Given the description of an element on the screen output the (x, y) to click on. 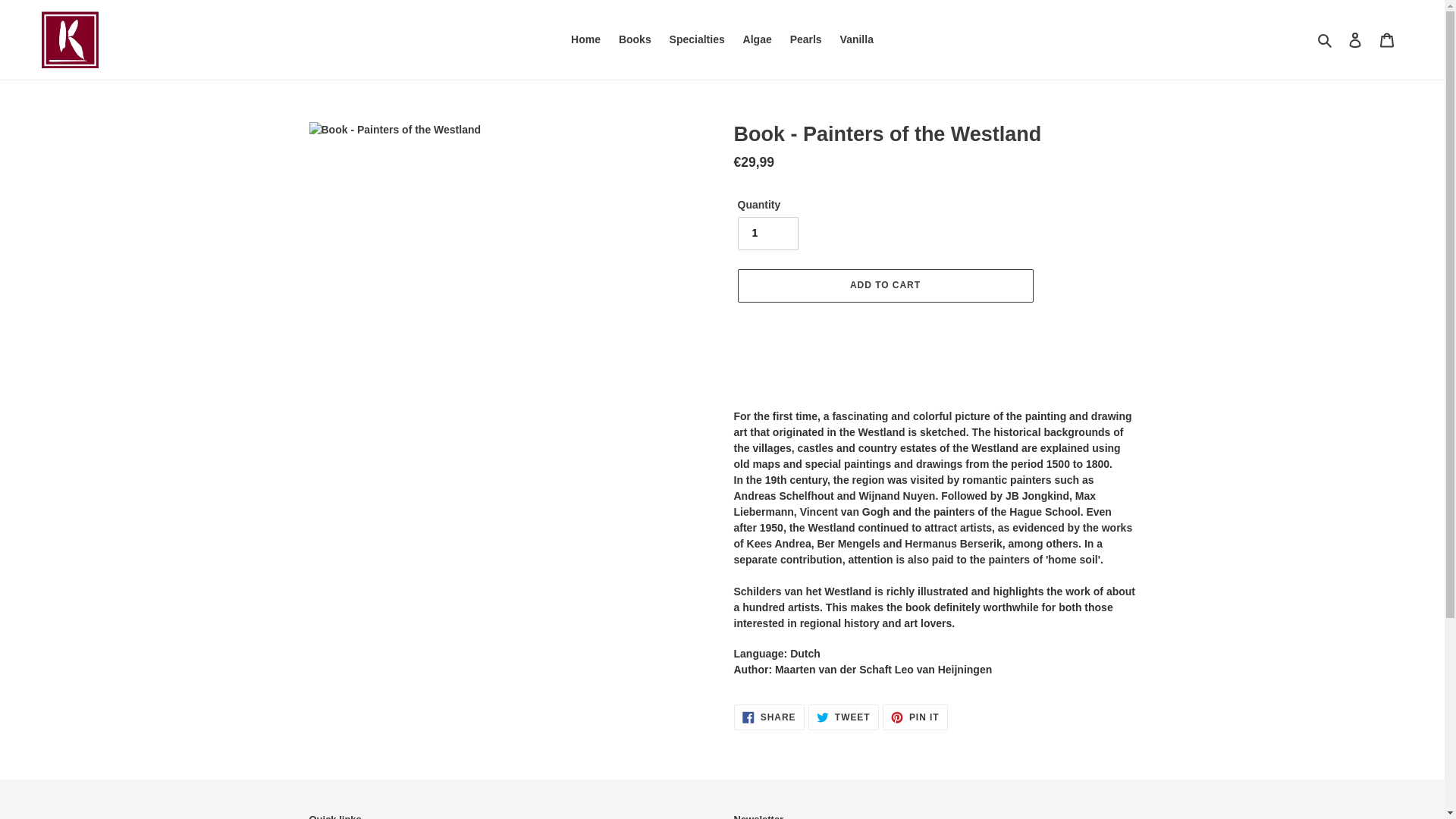
Algae (756, 39)
Specialties (697, 39)
Cart (1387, 39)
ADD TO CART (884, 285)
1 (766, 233)
Books (914, 717)
Home (635, 39)
Vanilla (585, 39)
